Given the description of an element on the screen output the (x, y) to click on. 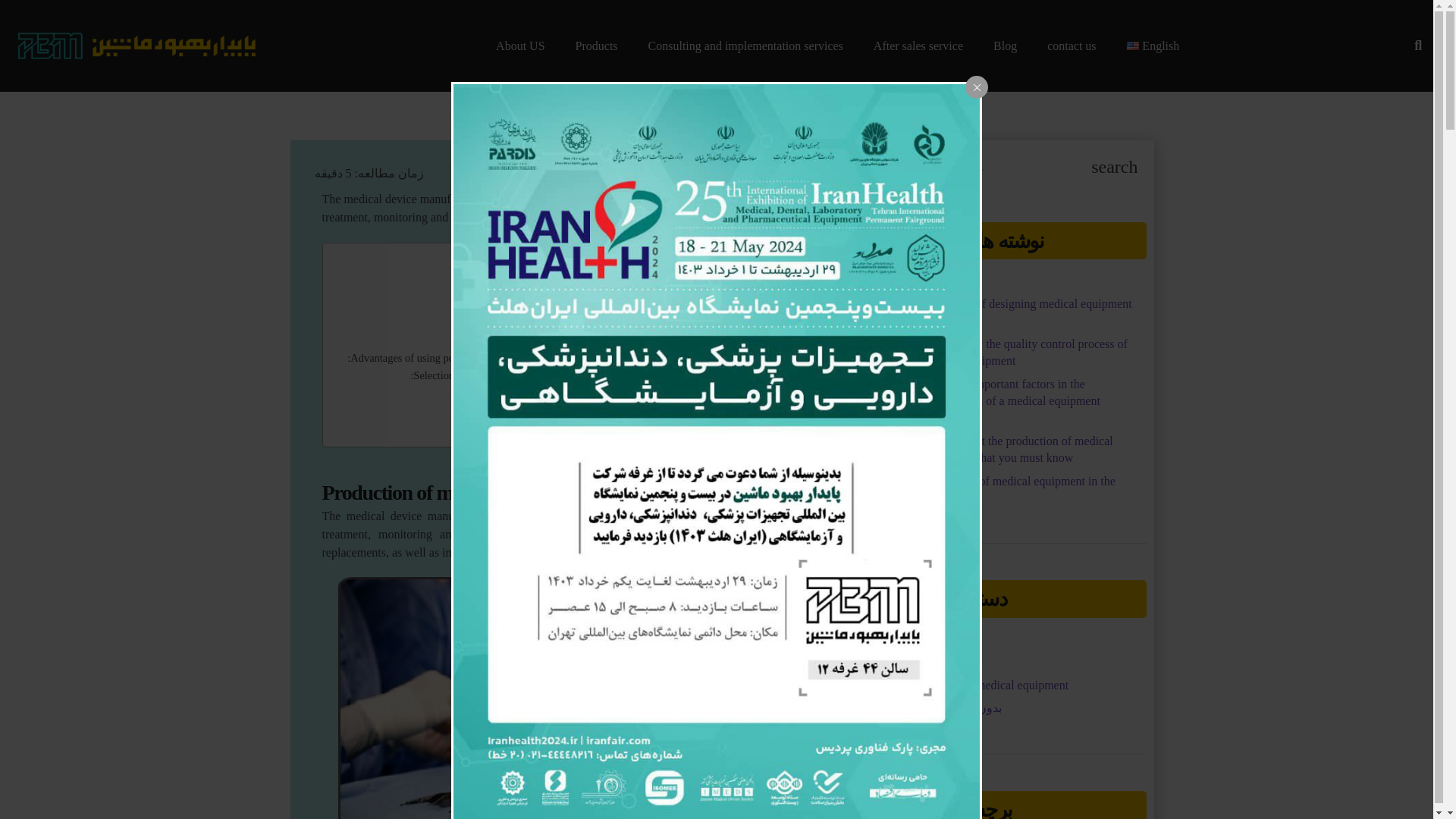
Medical equipment production departments of the industry (601, 303)
Production of medical equipment: (657, 340)
Some uses of polymers (681, 393)
Medical equipment production departments of the industry (601, 303)
Consulting and implementation services (746, 45)
Production of medical equipment in the industry (623, 285)
English (1153, 45)
Production of medical equipment: (657, 340)
Technologies and processes (670, 322)
